Given the description of an element on the screen output the (x, y) to click on. 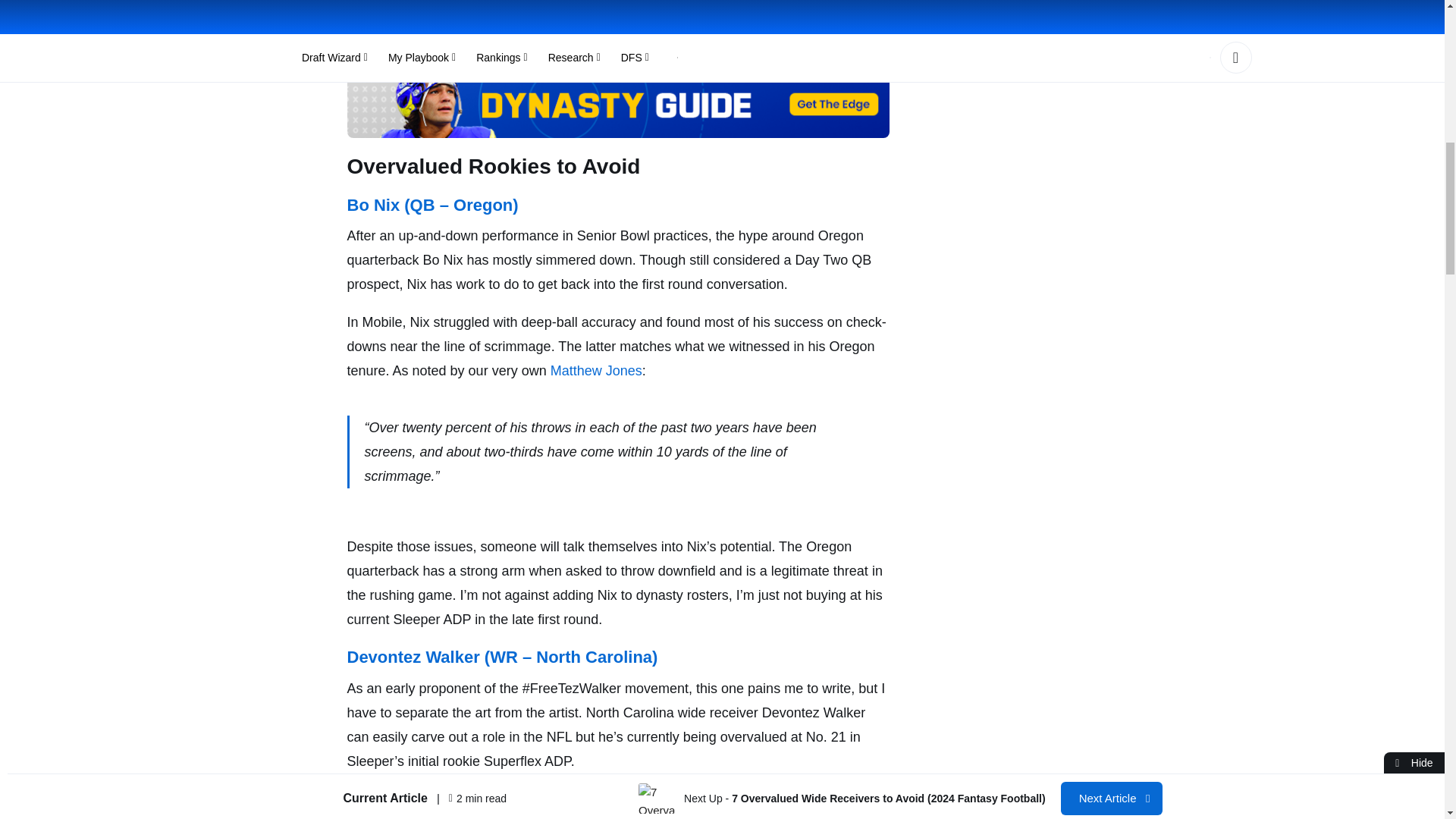
2024 Best Ball Fantasy Football Draft Kit (485, 15)
Matthew Jones (596, 370)
Free Fantasy Football Mock Draft Simulator (494, 44)
